Given the description of an element on the screen output the (x, y) to click on. 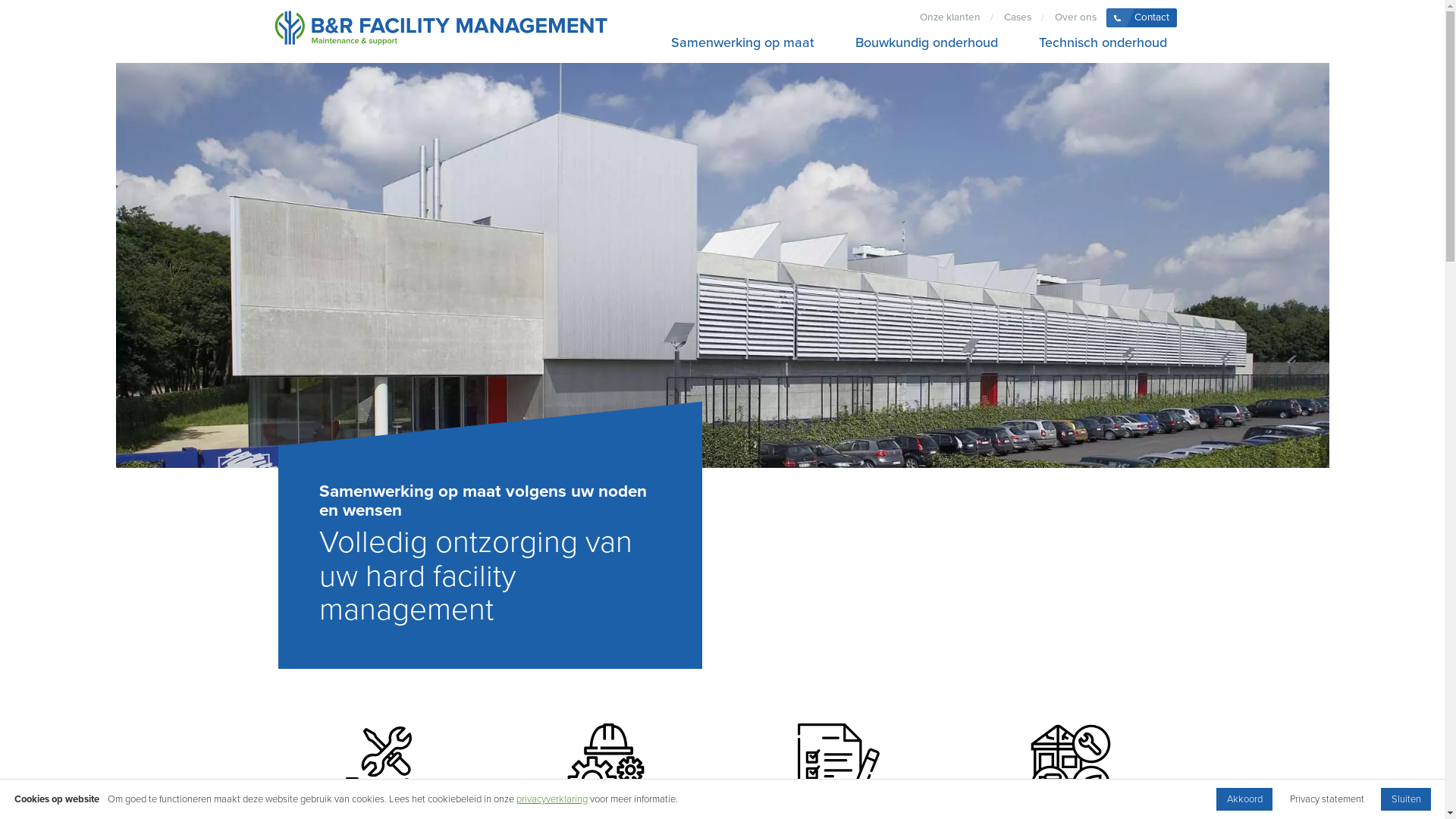
Contact Element type: text (1141, 17)
Privacy statement Element type: text (1326, 798)
Sluiten Element type: text (1405, 798)
Onze klanten Element type: text (949, 17)
Over ons Element type: text (1075, 17)
Bouwkundig onderhoud Element type: text (925, 42)
Samenwerking op maat Element type: text (742, 42)
Technisch onderhoud Element type: text (1097, 42)
Akkoord Element type: text (1244, 798)
Cases Element type: text (1017, 17)
privacyverklaring Element type: text (551, 799)
B&R Facility Management Element type: hover (440, 31)
